Given the description of an element on the screen output the (x, y) to click on. 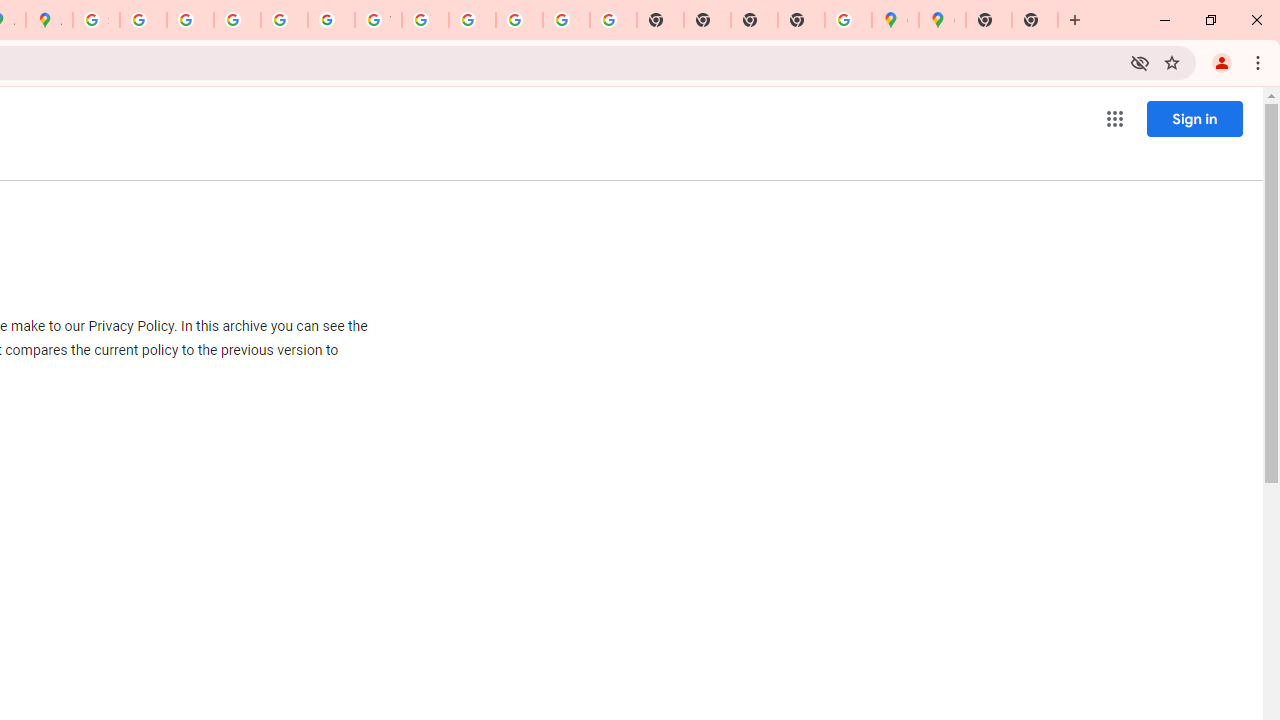
New Tab (989, 20)
Privacy Help Center - Policies Help (237, 20)
Google Maps (895, 20)
YouTube (377, 20)
Use Google Maps in Space - Google Maps Help (848, 20)
